Given the description of an element on the screen output the (x, y) to click on. 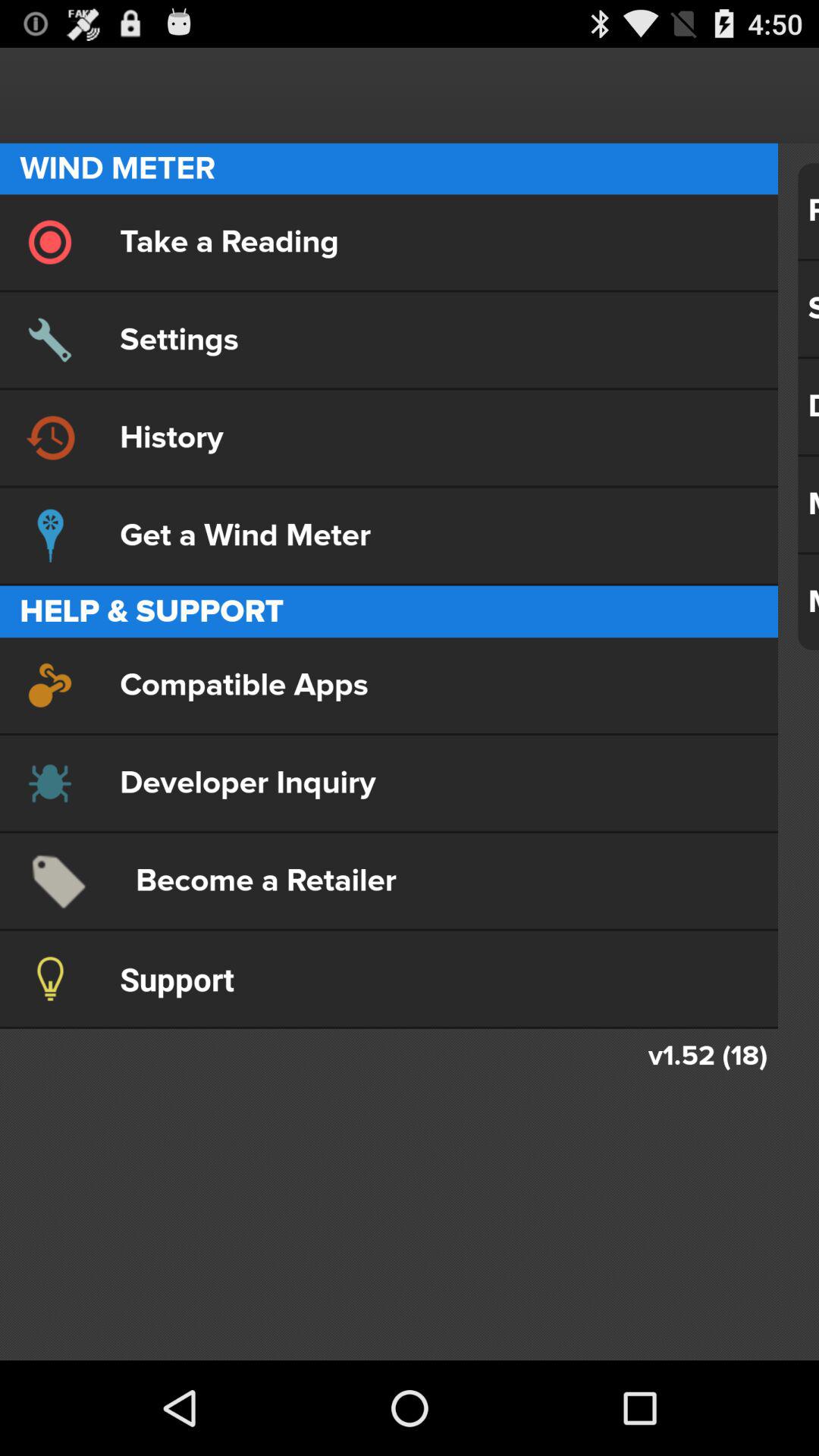
turn off the icon next to maximum sample period item (389, 685)
